Given the description of an element on the screen output the (x, y) to click on. 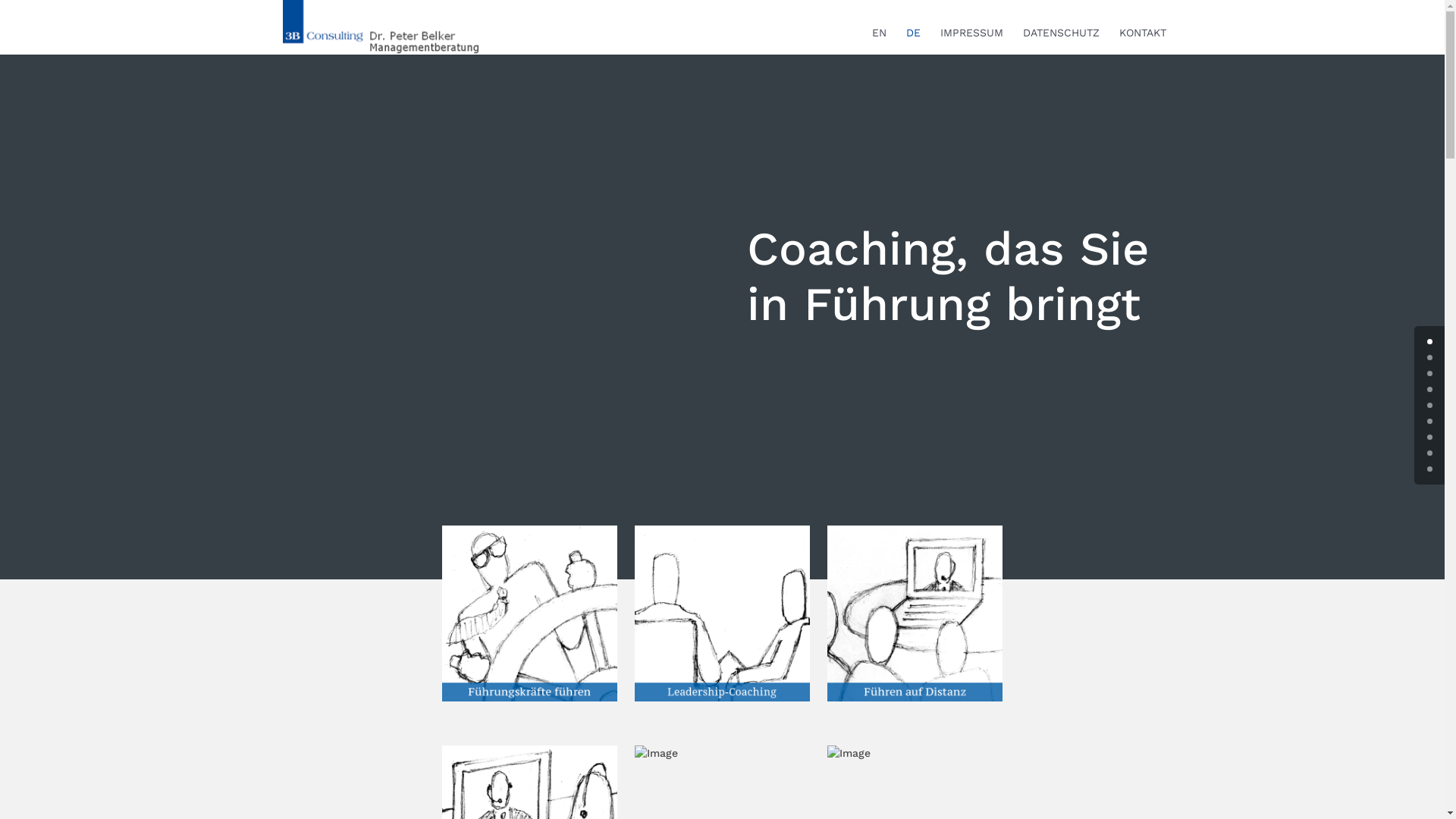
4 Element type: text (1429, 404)
3 Element type: text (1429, 389)
5 Element type: text (1429, 420)
DATENSCHUTZ Element type: text (1060, 40)
6 Element type: text (1429, 436)
1 Element type: text (1429, 357)
DE Element type: text (912, 40)
7 Element type: text (1429, 452)
2 Element type: text (1429, 373)
KONTAKT Element type: text (1142, 40)
IMPRESSUM Element type: text (971, 40)
8 Element type: text (1429, 468)
EN Element type: text (879, 40)
0 Element type: text (1429, 341)
